Given the description of an element on the screen output the (x, y) to click on. 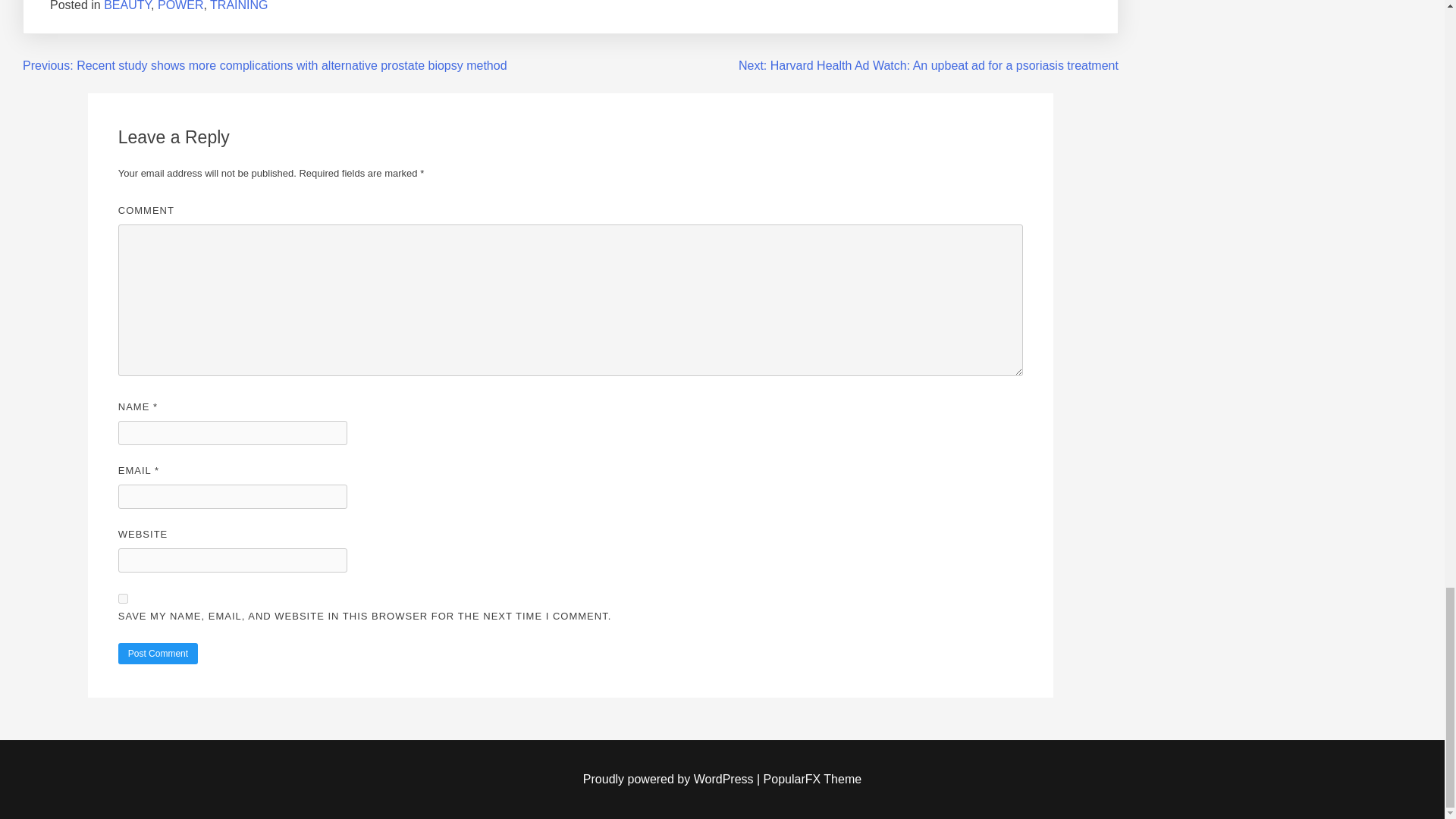
Post Comment (157, 653)
BEAUTY (127, 5)
yes (122, 598)
Proudly powered by WordPress (670, 779)
POWER (180, 5)
TRAINING (238, 5)
Post Comment (157, 653)
PopularFX Theme (811, 779)
